Given the description of an element on the screen output the (x, y) to click on. 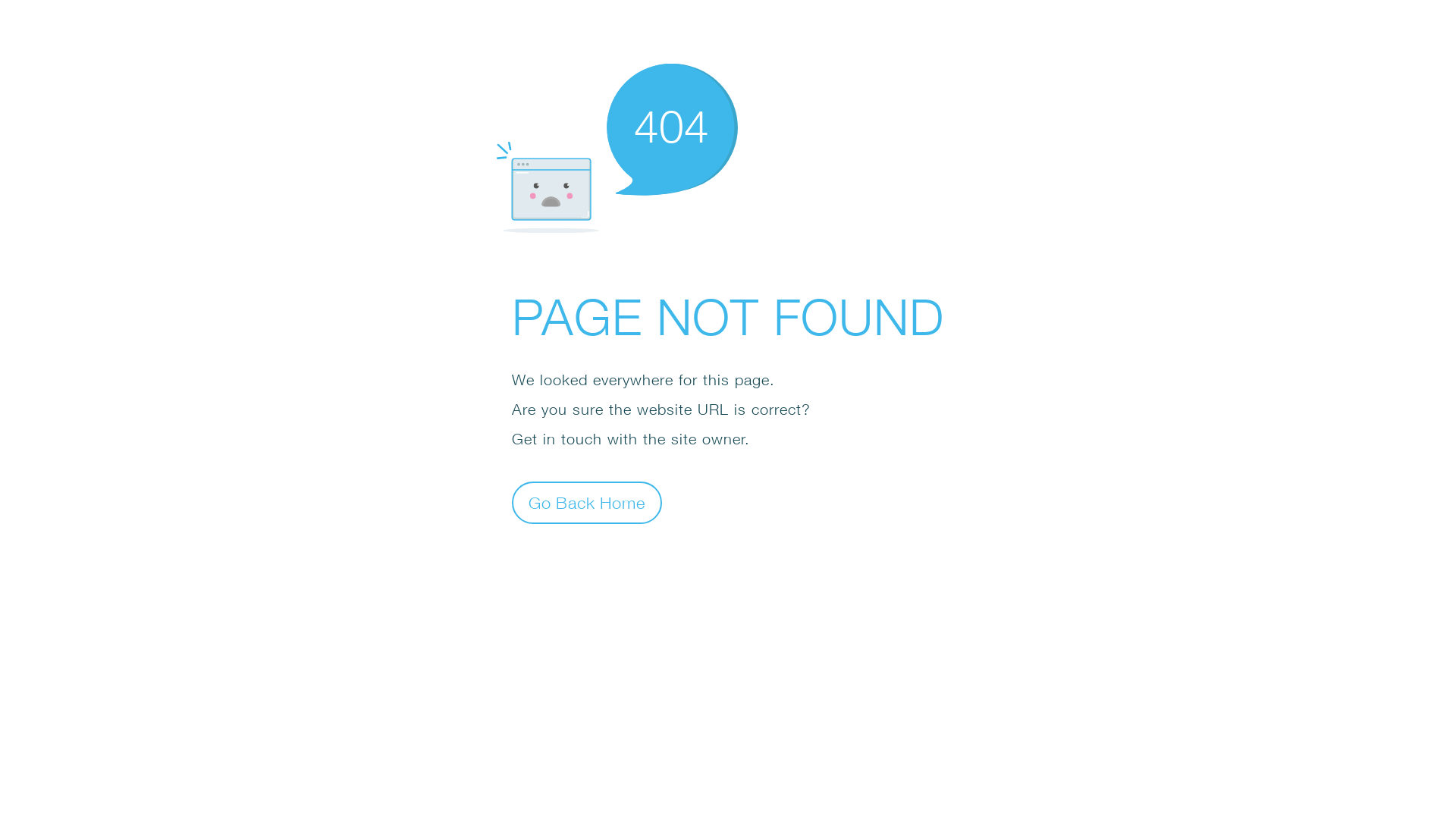
Go Back Home Element type: text (586, 502)
